Given the description of an element on the screen output the (x, y) to click on. 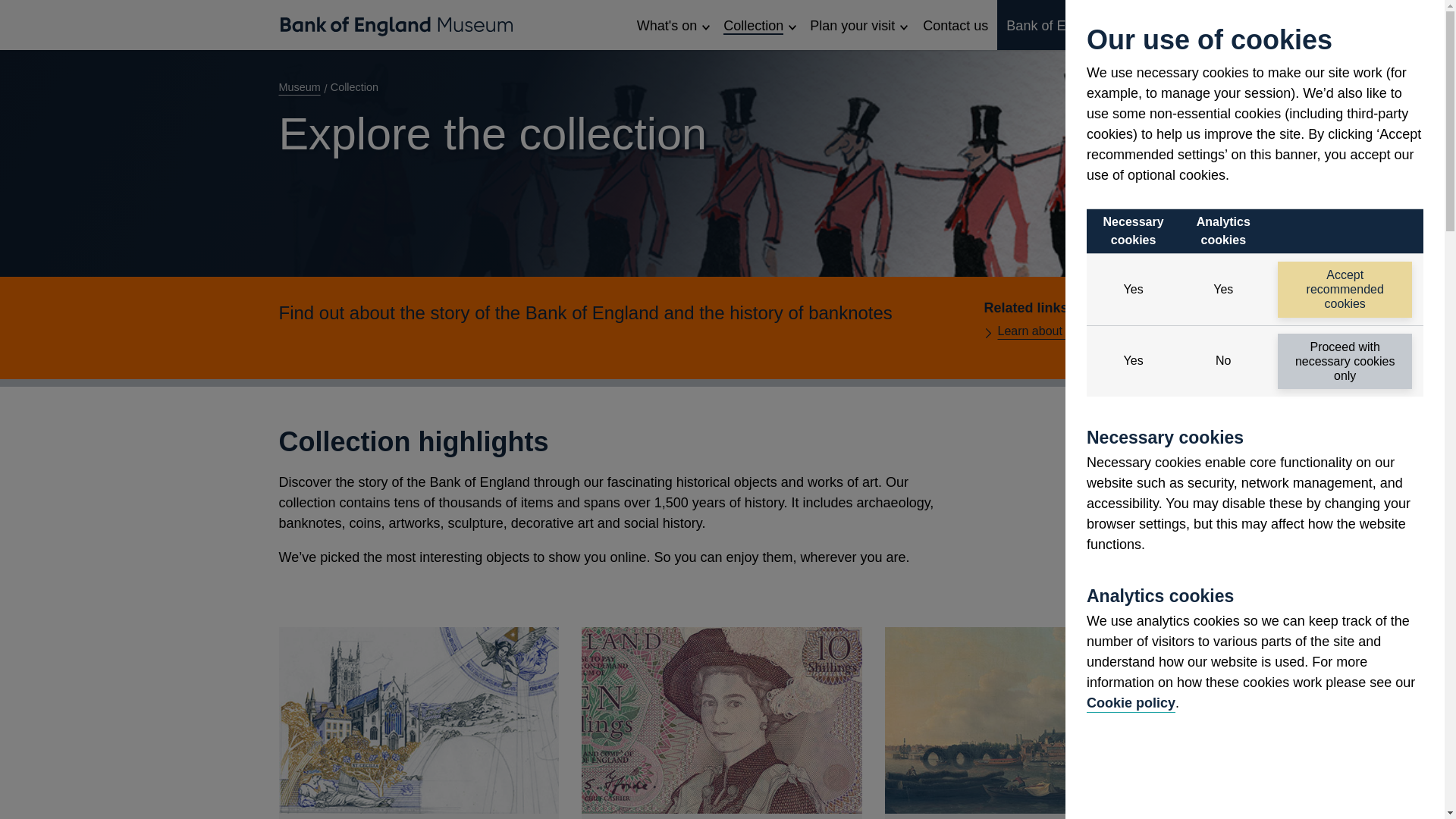
Proceed with necessary cookies only (1345, 361)
Accept recommended cookies (1345, 289)
Museum (304, 87)
Cookie policy (419, 722)
Contact us (1130, 702)
Collection (955, 24)
Bank of England website (759, 24)
Plan your visit (1081, 24)
